Given the description of an element on the screen output the (x, y) to click on. 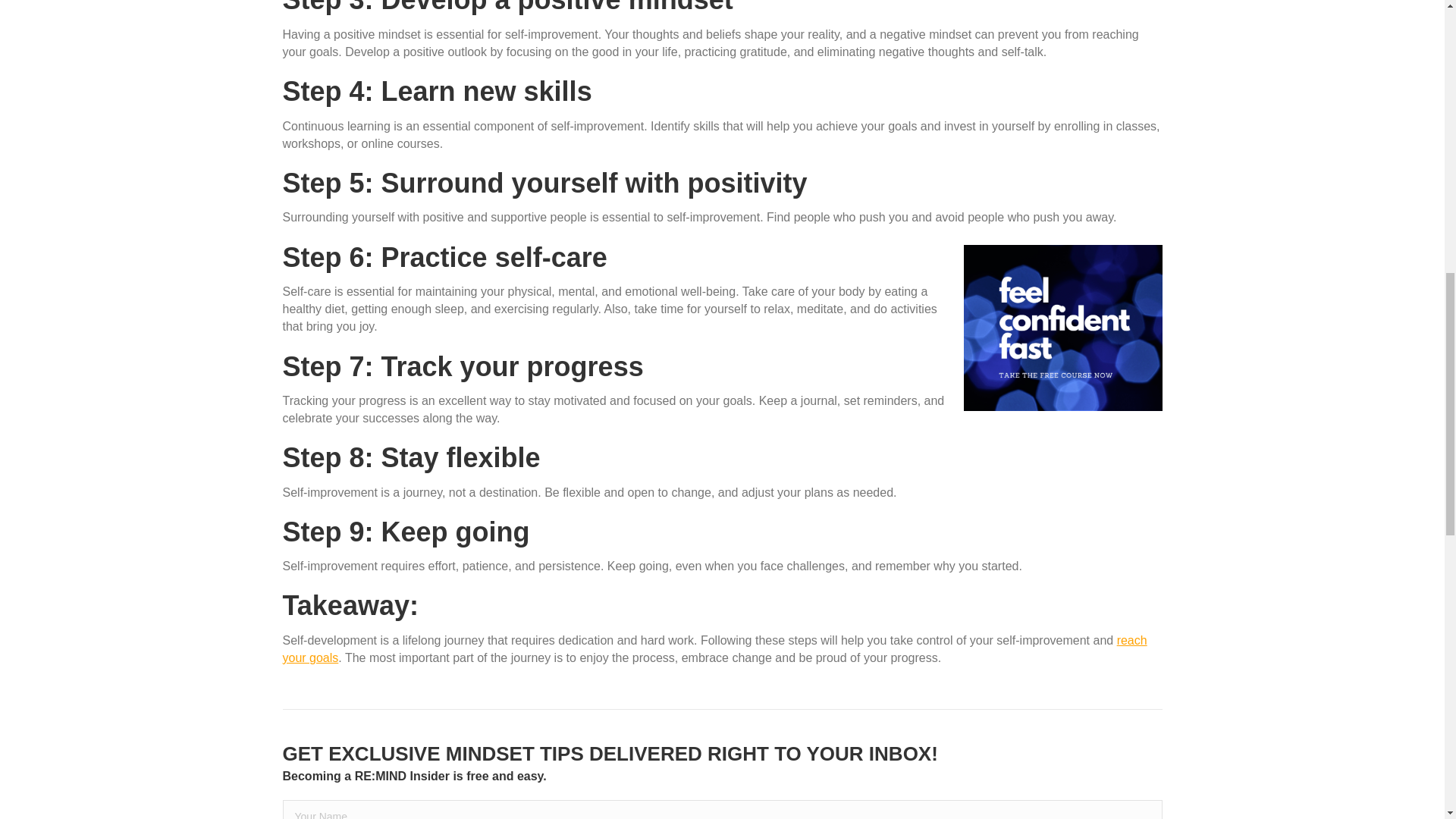
reach your goals (714, 648)
